Given the description of an element on the screen output the (x, y) to click on. 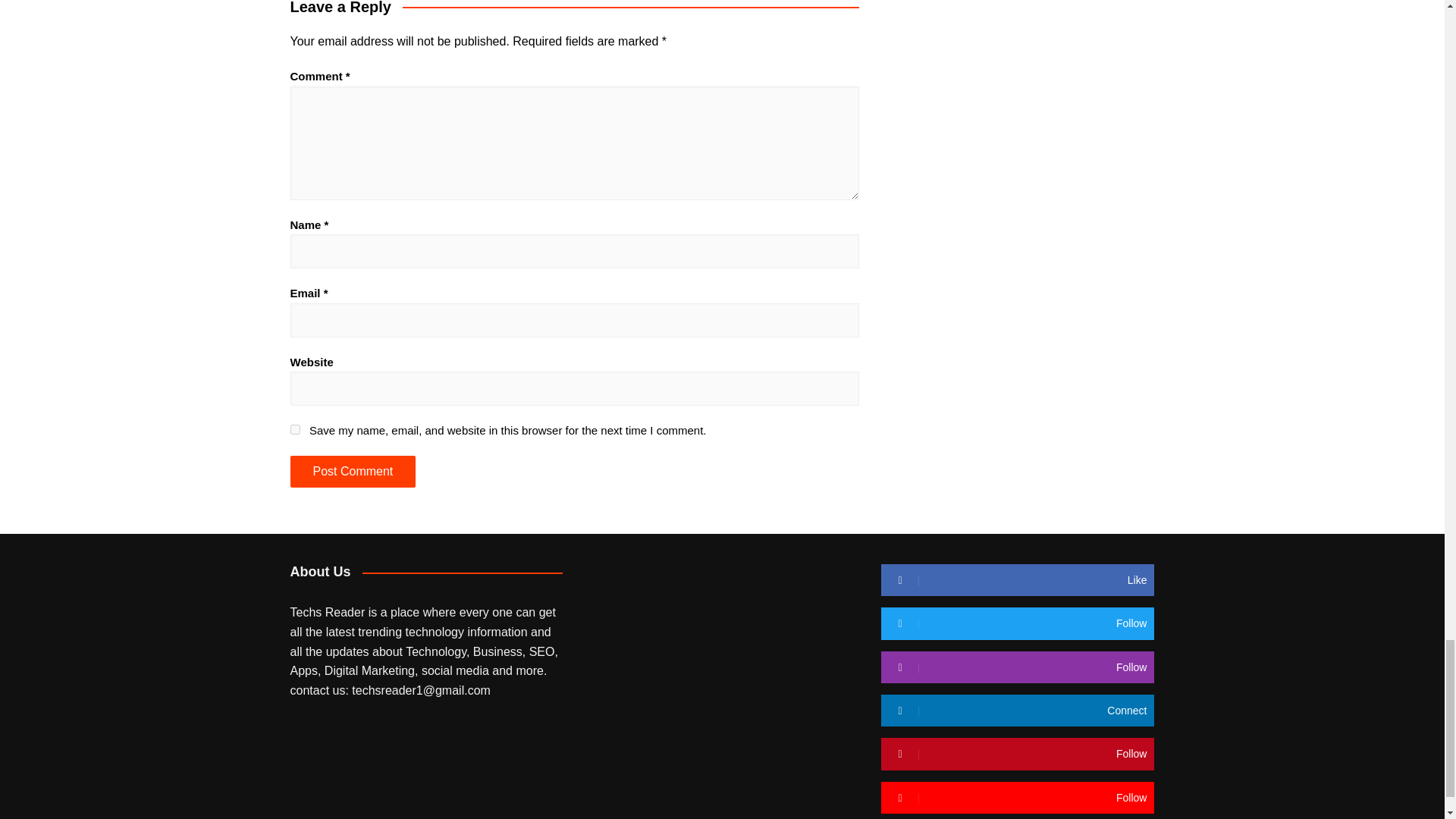
yes (294, 429)
Post Comment (351, 471)
